Given the description of an element on the screen output the (x, y) to click on. 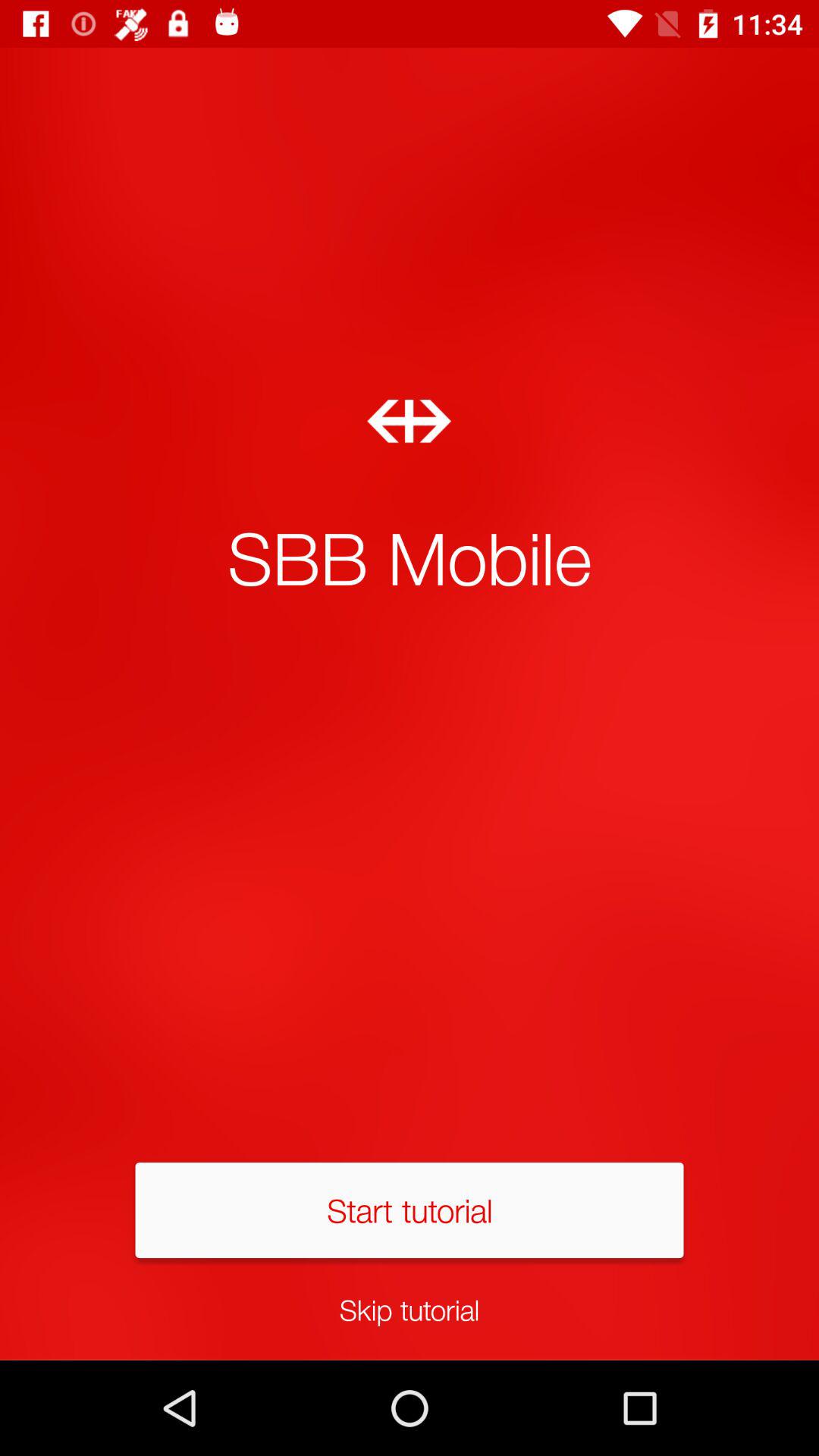
choose item below sbb mobile icon (409, 1210)
